Given the description of an element on the screen output the (x, y) to click on. 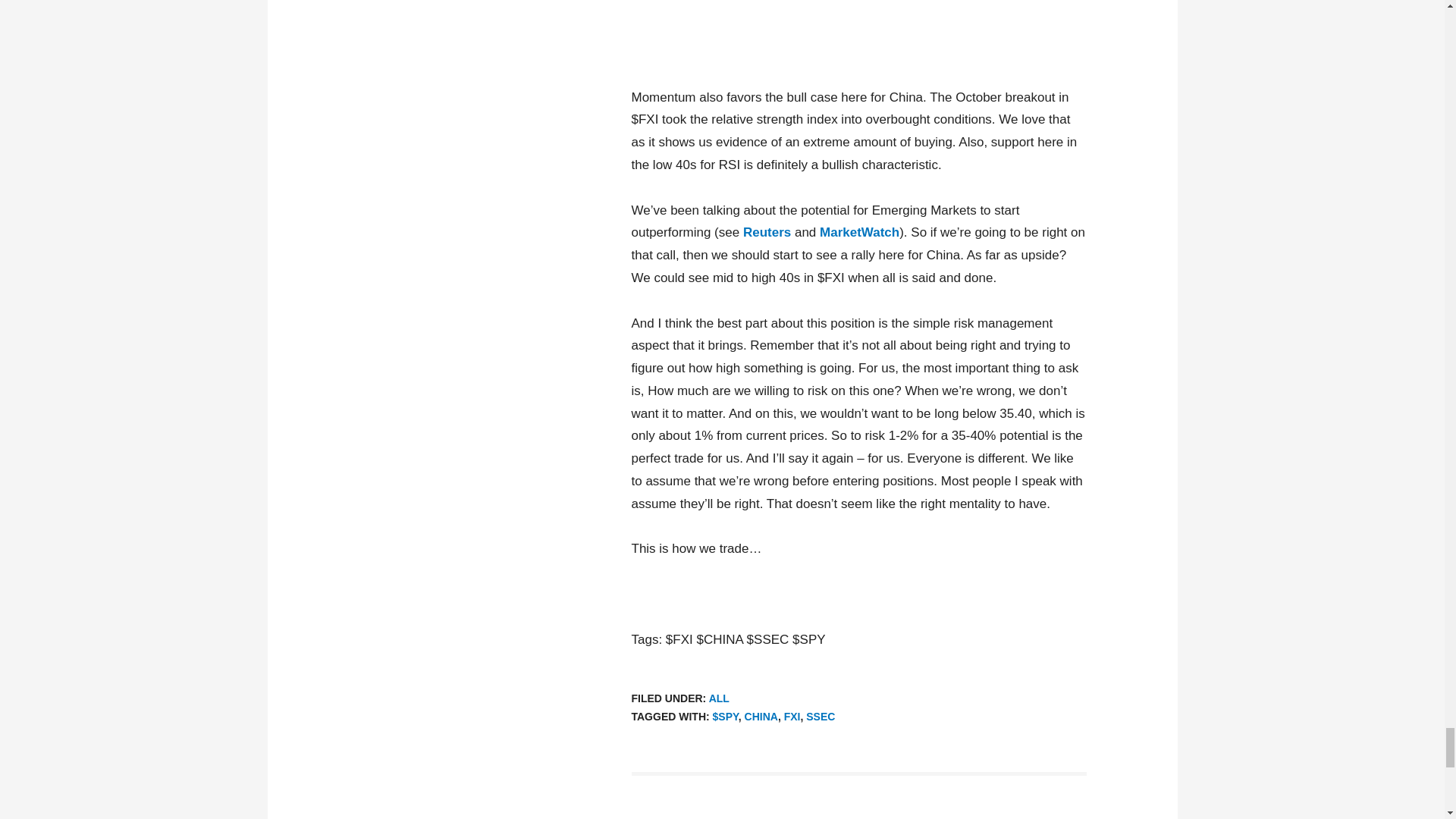
11-16-12 FXI (858, 31)
